Given the description of an element on the screen output the (x, y) to click on. 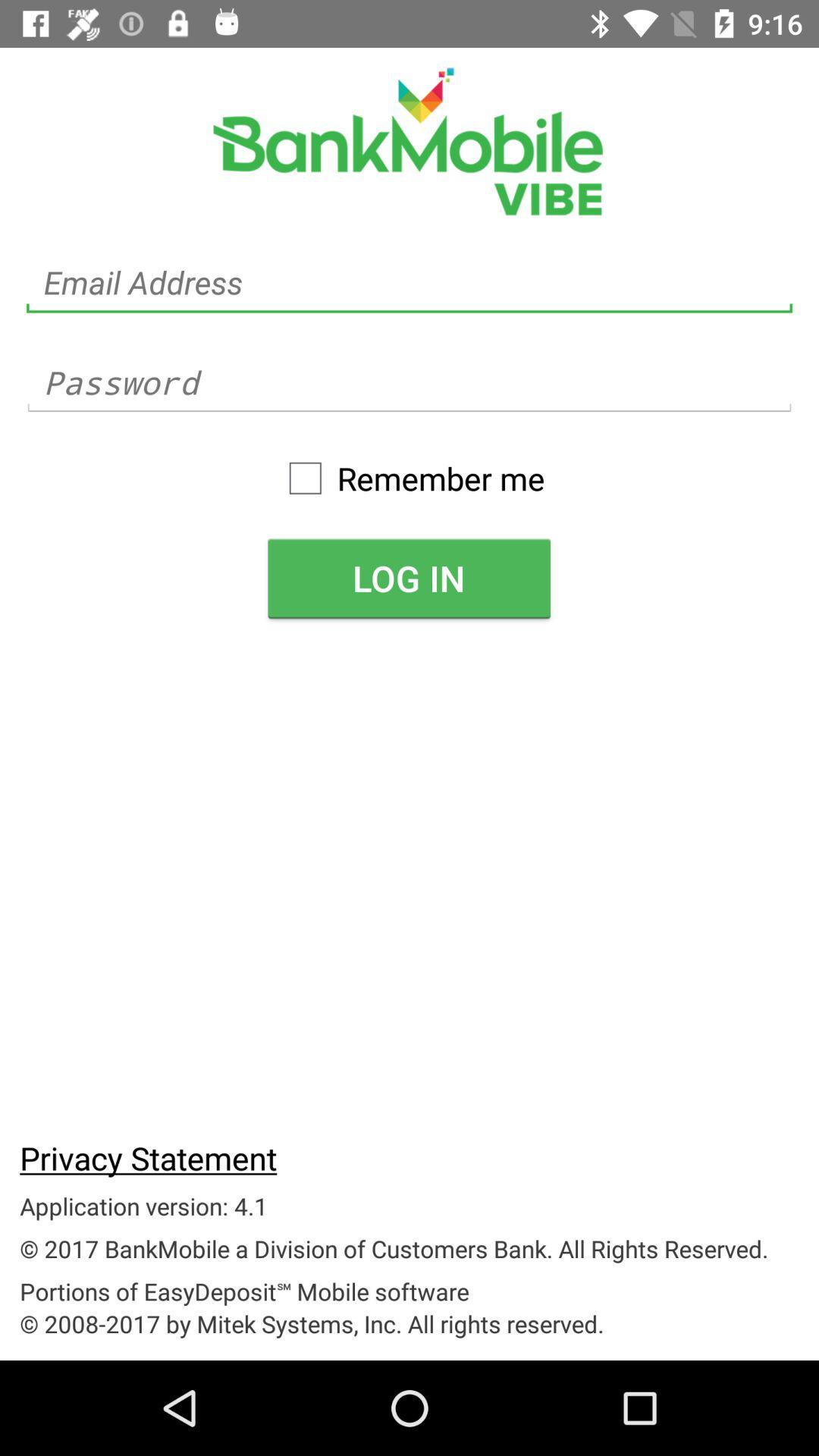
where it says password you will put your password and click on login (409, 382)
